Given the description of an element on the screen output the (x, y) to click on. 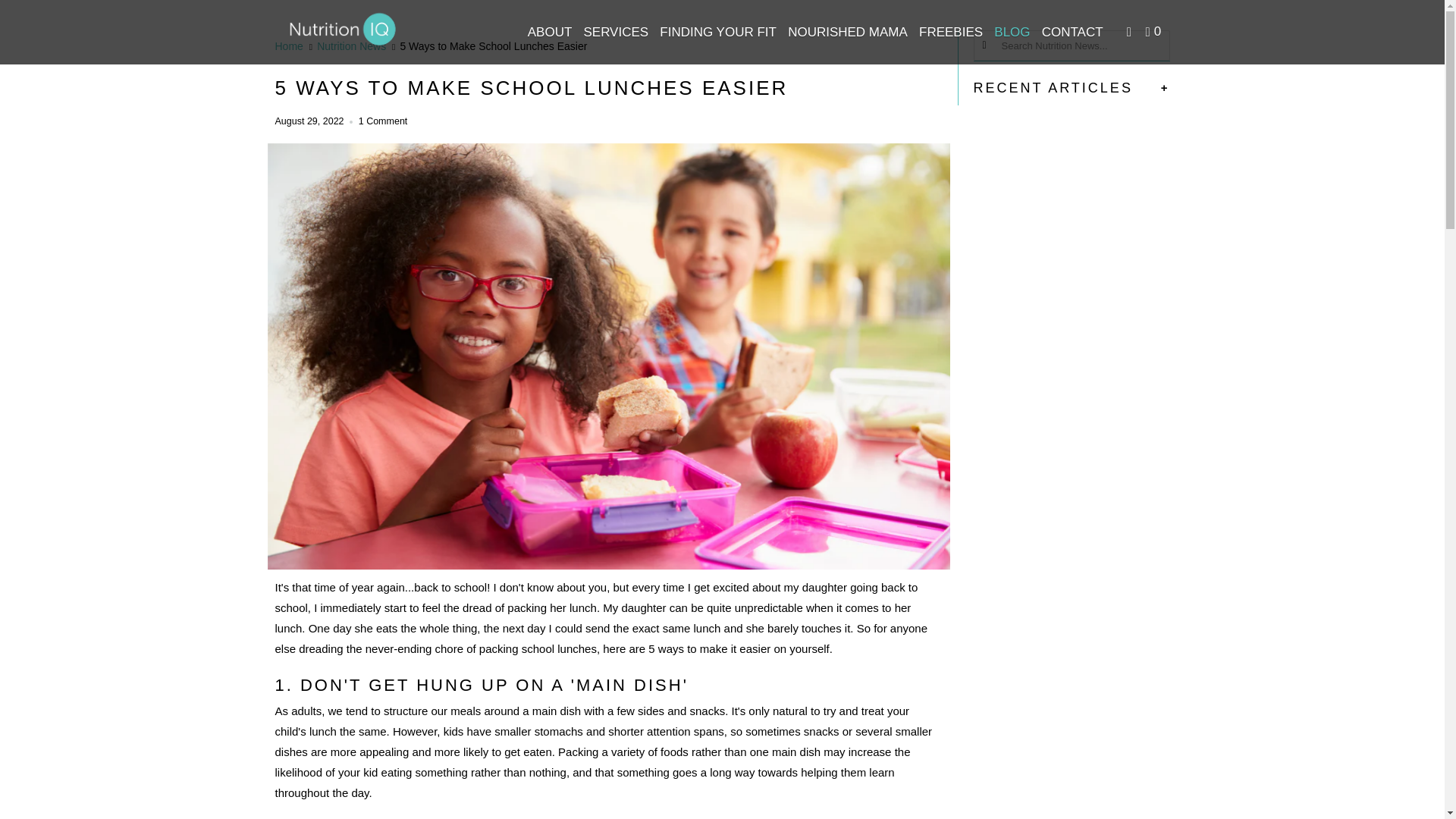
Nutrition News (351, 46)
NOURISHED MAMA (847, 31)
ABOUT (549, 31)
FREEBIES (950, 31)
0 (1154, 31)
Nutrition IQ (342, 32)
BLOG (1011, 31)
CONTACT (1072, 31)
Nutrition News (351, 46)
SERVICES (614, 31)
Nutrition IQ (288, 46)
1 Comment (382, 121)
Home (288, 46)
FINDING YOUR FIT (717, 31)
